Given the description of an element on the screen output the (x, y) to click on. 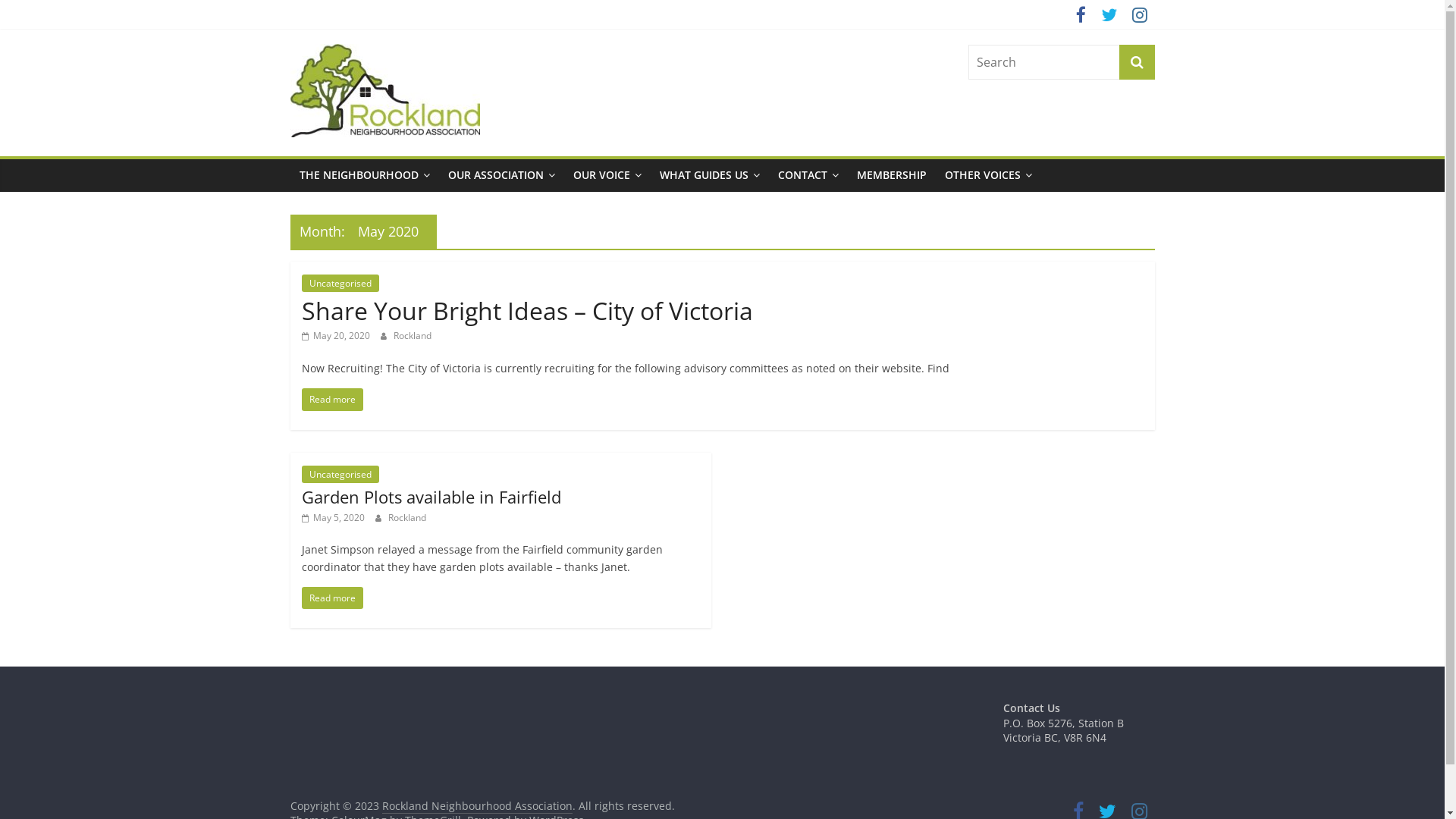
THE NEIGHBOURHOOD Element type: text (363, 175)
WHAT GUIDES US Element type: text (709, 175)
MEMBERSHIP Element type: text (891, 175)
Uncategorised Element type: text (340, 282)
Rockland Element type: text (411, 335)
OUR VOICE Element type: text (607, 175)
Rockland Element type: text (407, 517)
May 5, 2020 Element type: text (332, 517)
Uncategorised Element type: text (340, 474)
May 20, 2020 Element type: text (335, 335)
Rockland Neighbourhood Association Element type: text (477, 805)
CONTACT Element type: text (807, 175)
Read more Element type: text (332, 399)
Read more Element type: text (332, 597)
OTHER VOICES Element type: text (988, 175)
OUR ASSOCIATION Element type: text (500, 175)
Garden Plots available in Fairfield Element type: text (431, 496)
Rockland Neighbourhood Association Element type: text (418, 105)
